Given the description of an element on the screen output the (x, y) to click on. 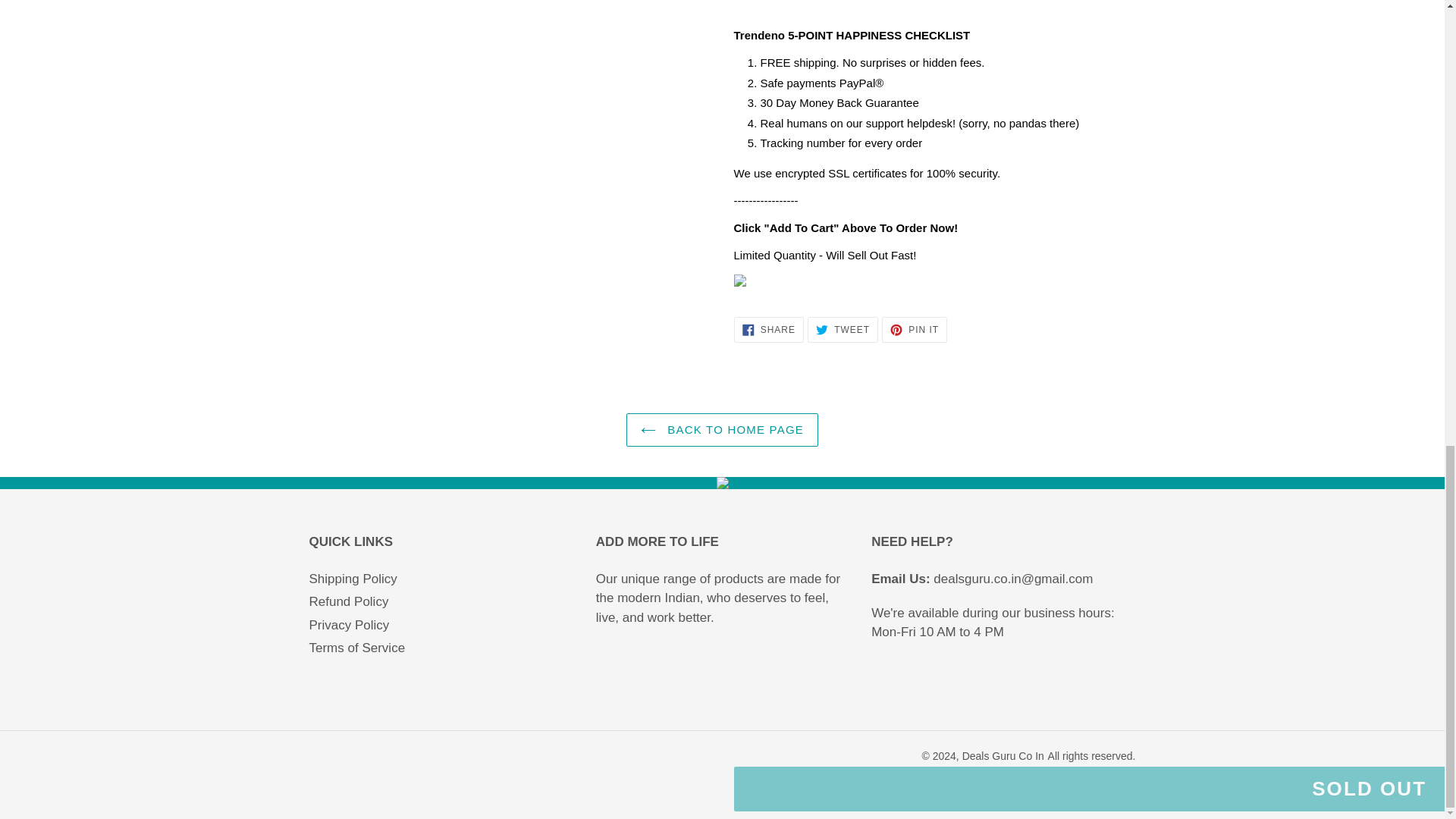
Refund Policy (348, 601)
Shipping Policy (352, 578)
BACK TO HOME PAGE (768, 329)
Terms of Service (722, 430)
Privacy Policy (357, 647)
